Given the description of an element on the screen output the (x, y) to click on. 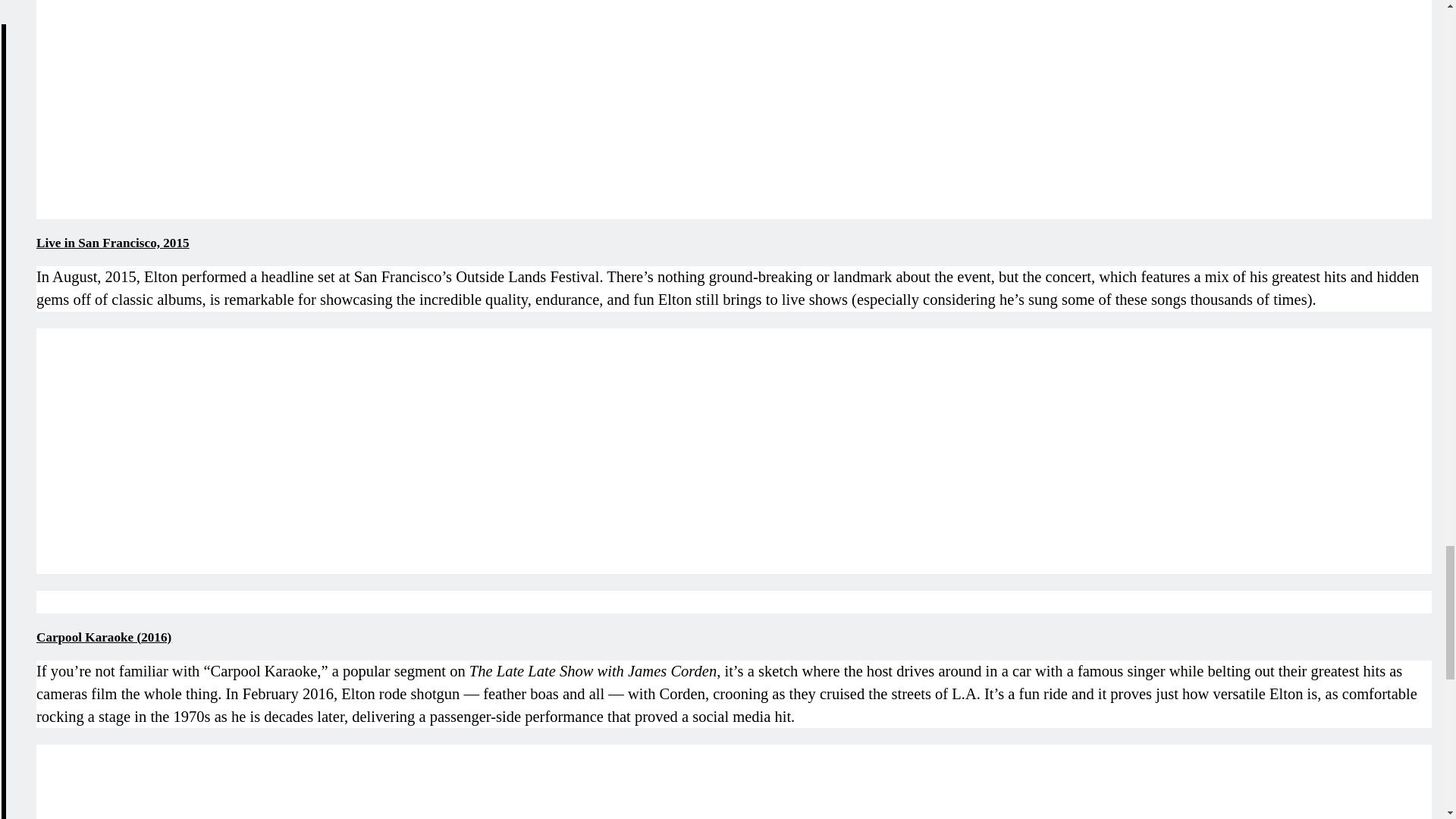
YouTube video player (248, 106)
